Given the description of an element on the screen output the (x, y) to click on. 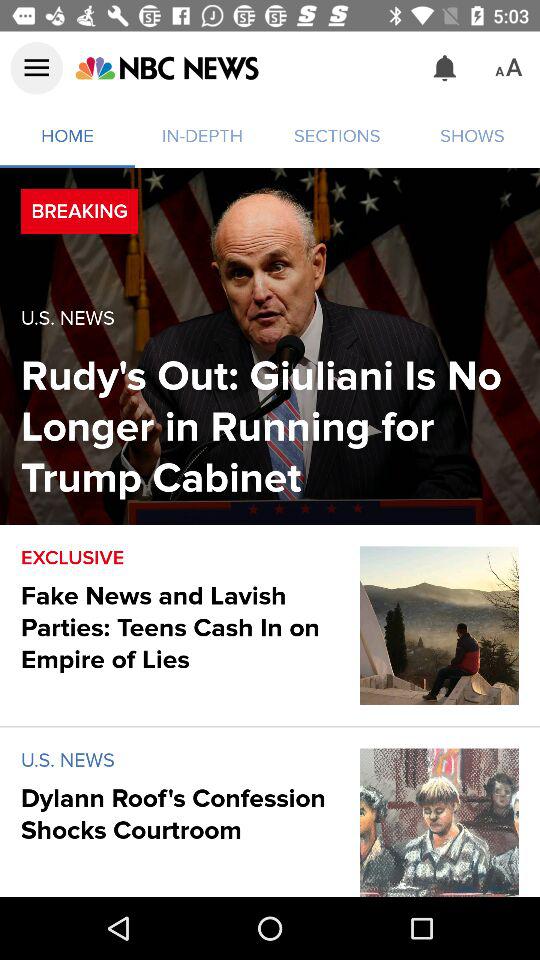
turn on the icon to the right of the sections (444, 67)
